Given the description of an element on the screen output the (x, y) to click on. 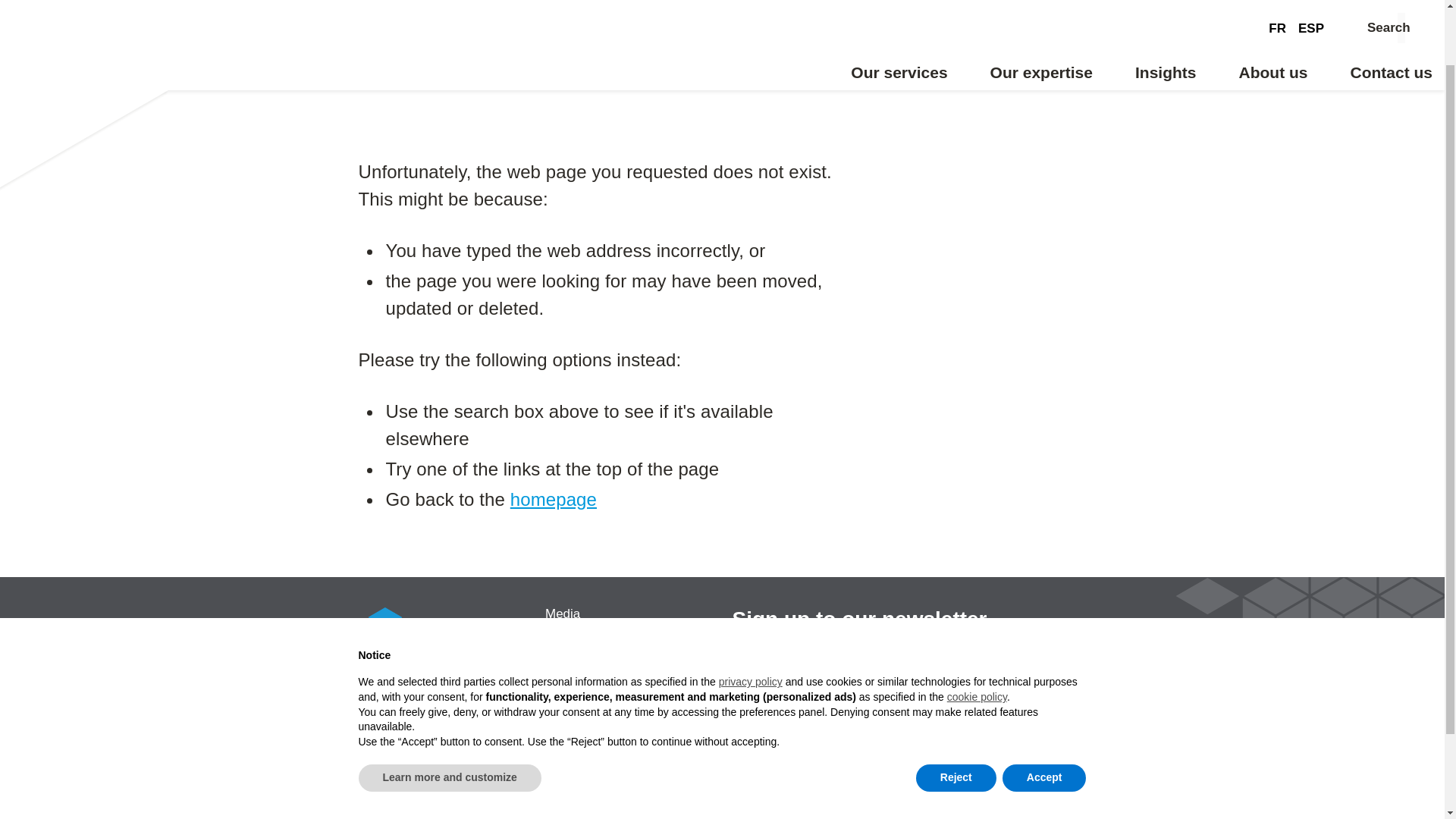
Insights (1165, 12)
Apple Podcasts (785, 777)
Our locations (628, 644)
Carbon reduction plan (628, 799)
Spotify (1032, 740)
Spotify (1032, 740)
Twitter (909, 739)
Sign up (1038, 658)
Twitter (909, 739)
YouTube (909, 771)
